Given the description of an element on the screen output the (x, y) to click on. 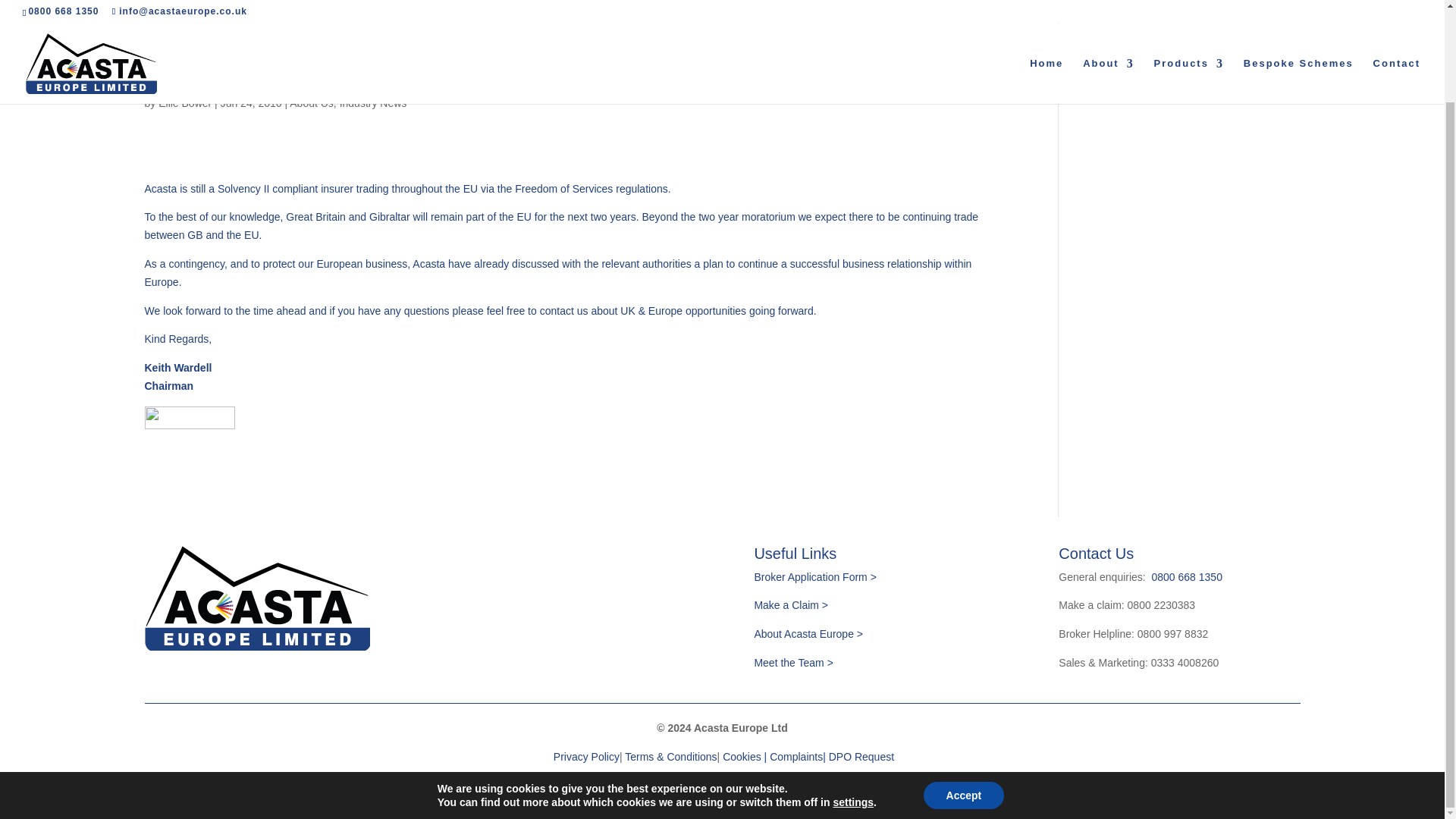
Complaints (796, 756)
Acasta-Europe-Logo (256, 598)
DPO Request (860, 756)
Tweets by AcastaEurope (1139, 50)
Cookies (746, 756)
Industry News (373, 102)
About Us (311, 102)
Posts by Ellie Bower (184, 102)
Ellie Bower (184, 102)
